Given the description of an element on the screen output the (x, y) to click on. 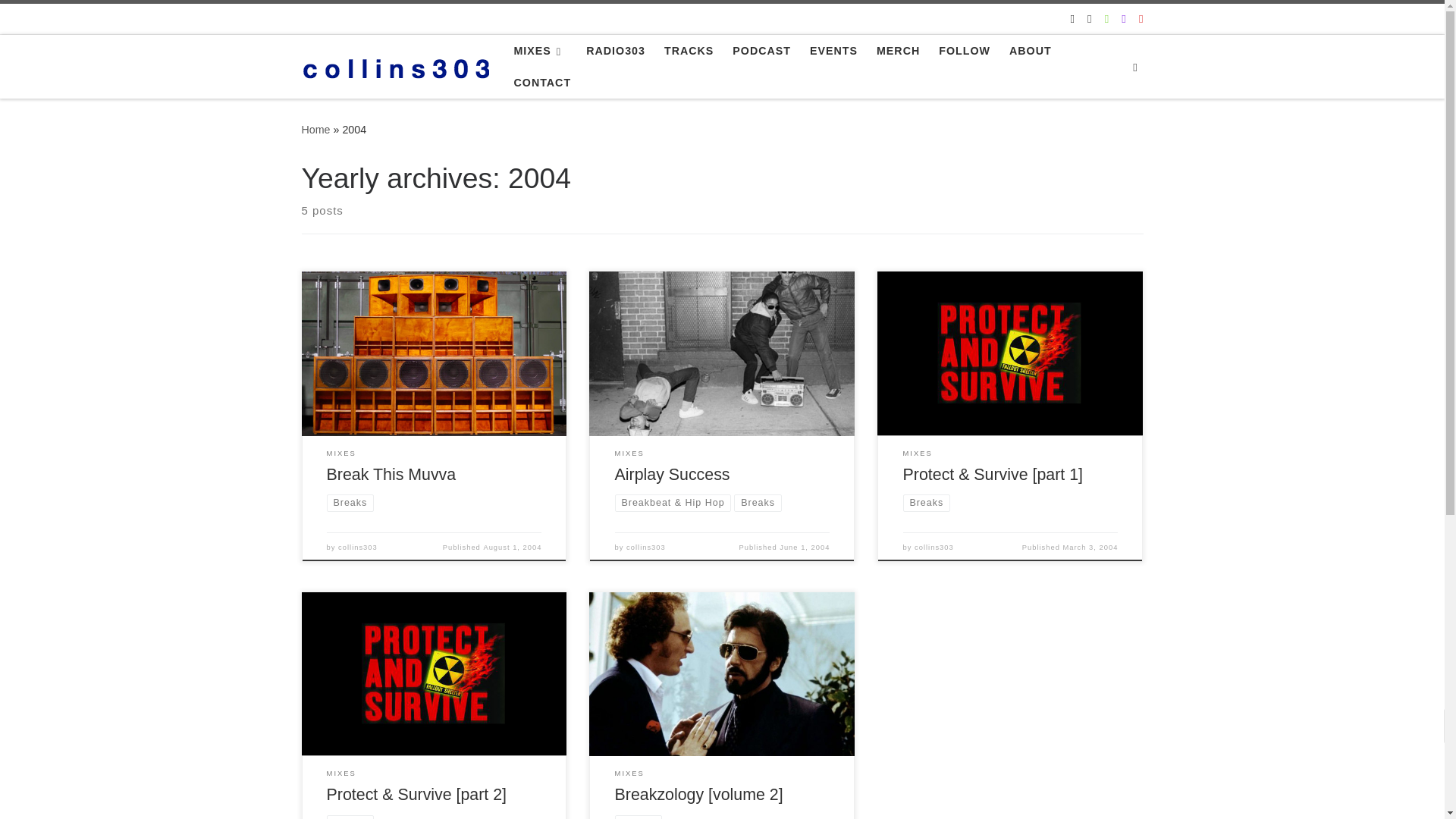
MIXES (540, 50)
View all posts in Breaks (756, 502)
View all posts in Mixes (341, 453)
View all posts in Mixes (629, 453)
TRACKS (689, 50)
ABOUT (1030, 50)
collins303 (315, 129)
PODCAST (761, 50)
View all posts by collins303 (645, 547)
Skip to content (60, 20)
RADIO303 (614, 50)
FOLLOW (964, 50)
MERCH (898, 50)
